Given the description of an element on the screen output the (x, y) to click on. 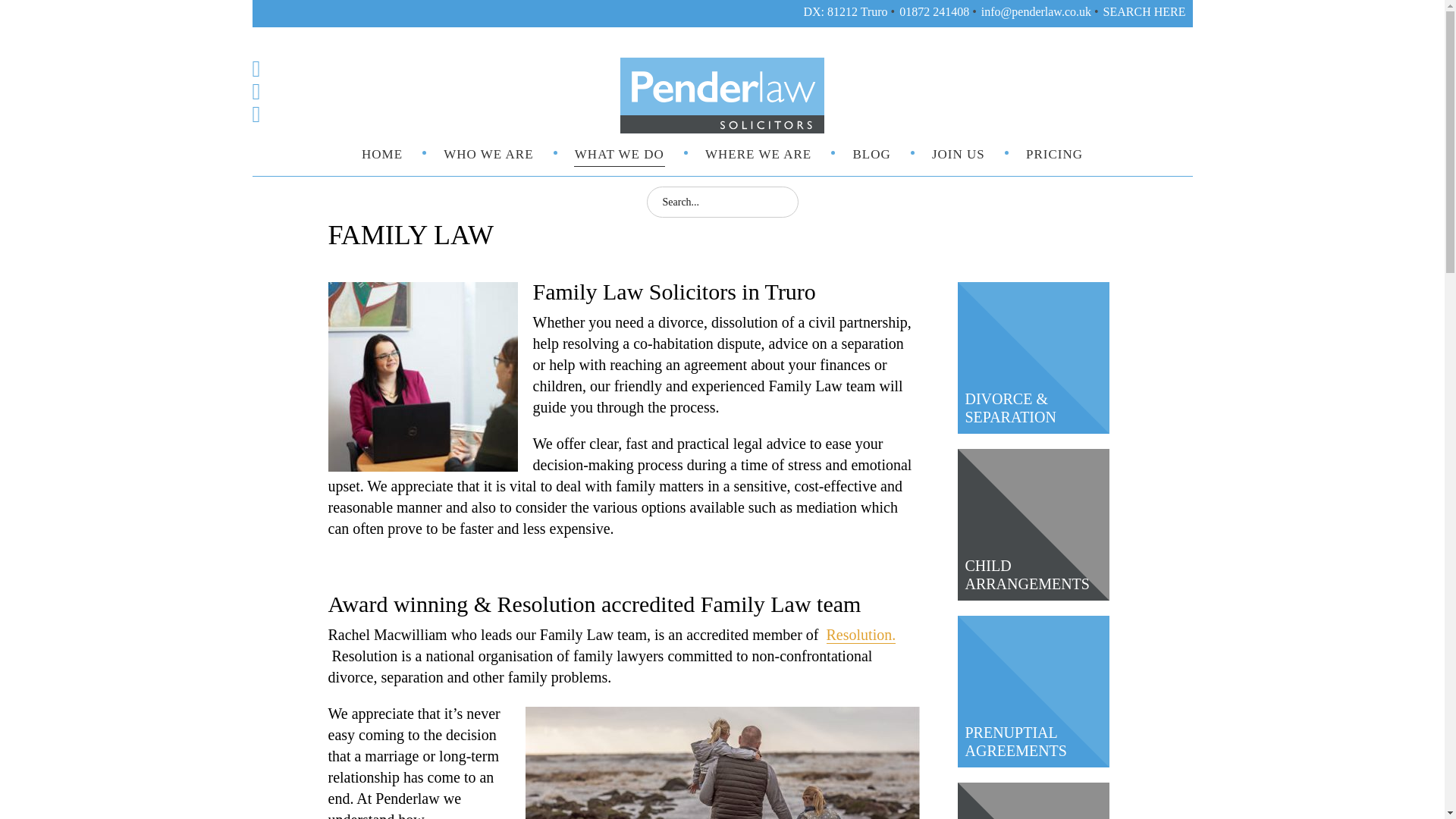
CHILD ARRANGEMENTS (1026, 574)
WHERE WE ARE (758, 155)
PRENUPTIAL AGREEMENTS (1014, 741)
WHO WE ARE (488, 155)
WHAT WE DO (619, 155)
BLOG (871, 155)
HOME (382, 155)
Family and Matrimonial (721, 762)
JOIN US (958, 155)
